Given the description of an element on the screen output the (x, y) to click on. 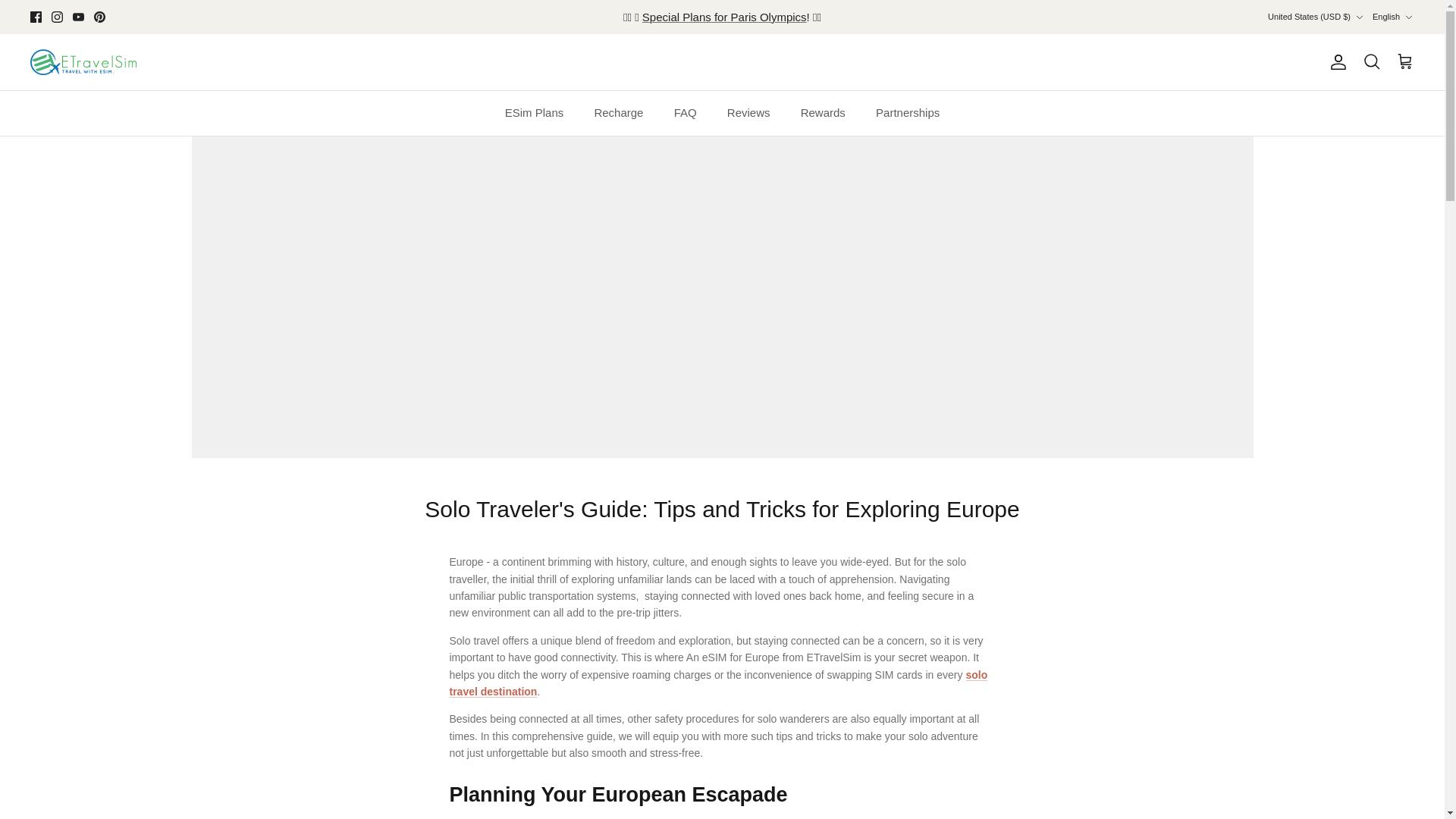
ETravelSim (83, 62)
Travel eSIM for France (724, 16)
Special Plans for Paris Olympics (724, 16)
